Given the description of an element on the screen output the (x, y) to click on. 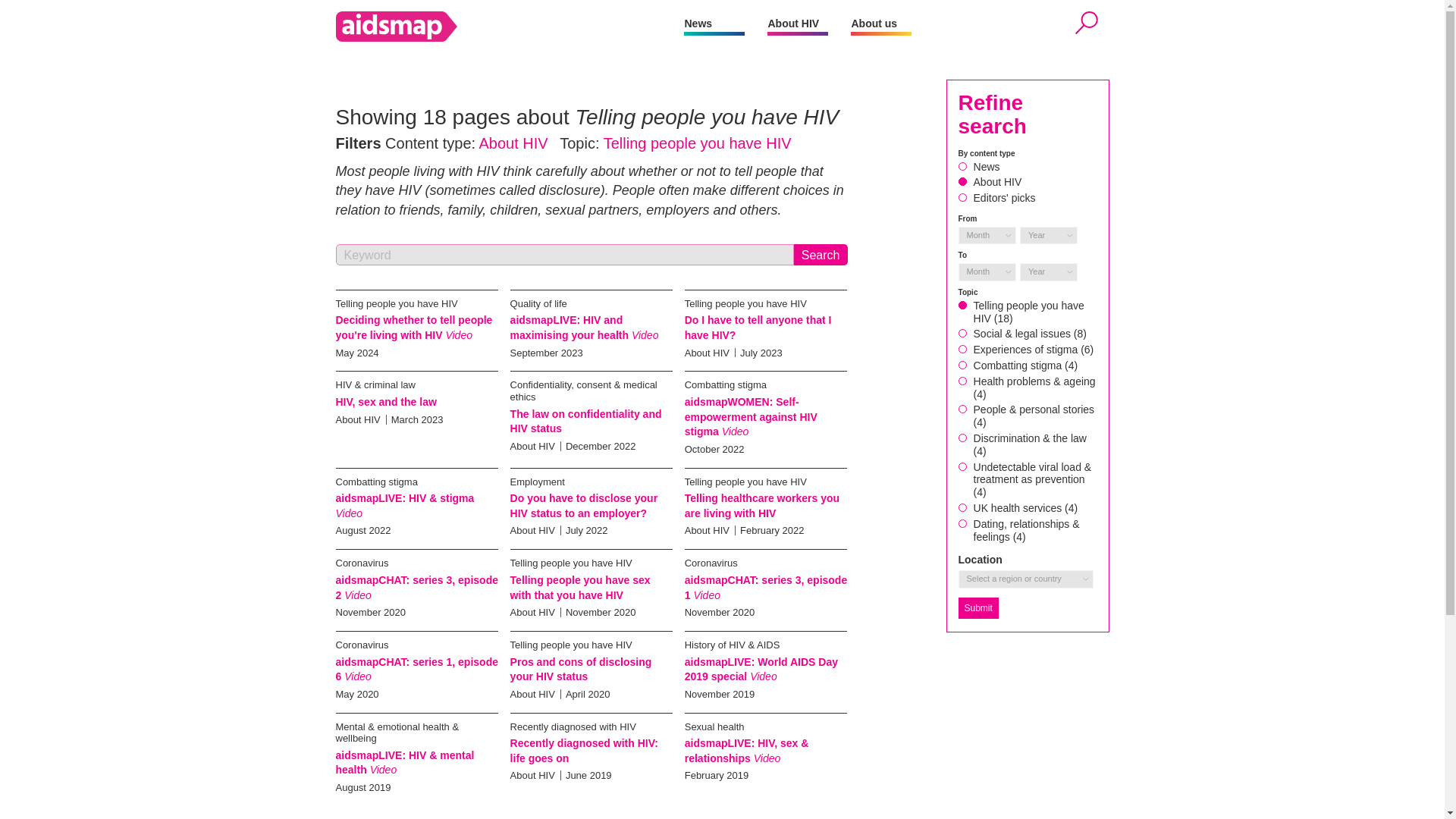
Home (509, 26)
Telling people you have sex with that you have HIV (580, 587)
Deciding whether to tell people you're living with HIV Video (413, 327)
Search (820, 254)
Coronavirus (711, 562)
Do I have to tell anyone that I have HIV? (757, 327)
Coronavirus (361, 644)
Telling people you have HIV (745, 303)
aidsmapCHAT: series 1, episode 6 Video (415, 669)
Employment (537, 481)
Telling people you have HIV (571, 644)
aidsmapLIVE: HIV and maximising your health Video (585, 327)
Telling people you have HIV (745, 481)
Combatting stigma (725, 384)
Search (820, 254)
